Given the description of an element on the screen output the (x, y) to click on. 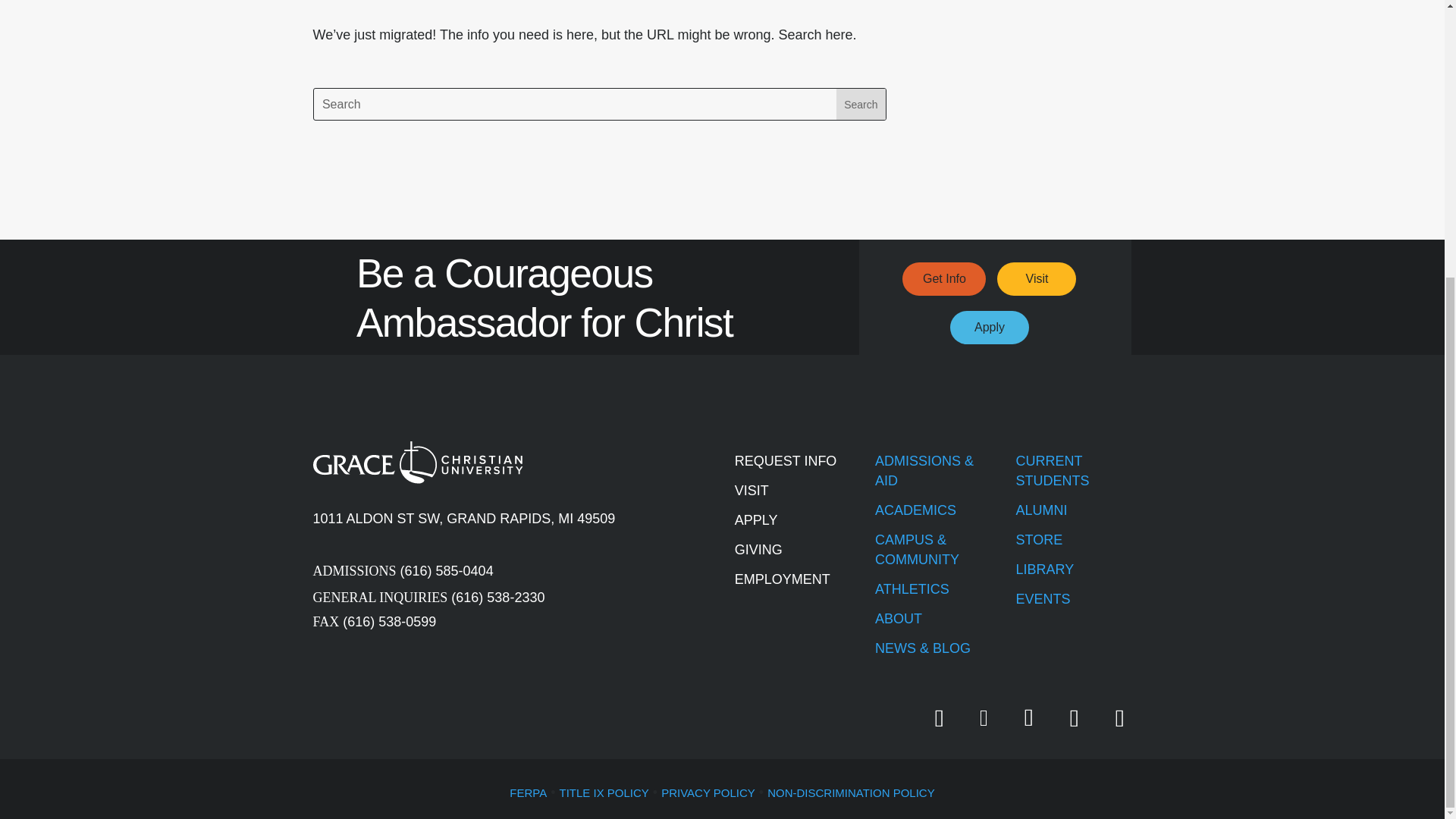
Follow on Youtube (1028, 717)
Follow on Instagram (1073, 717)
Follow on LinkedIn (1118, 717)
Search (860, 103)
Follow on Facebook (938, 717)
Follow on X (983, 717)
Search (860, 103)
